Given the description of an element on the screen output the (x, y) to click on. 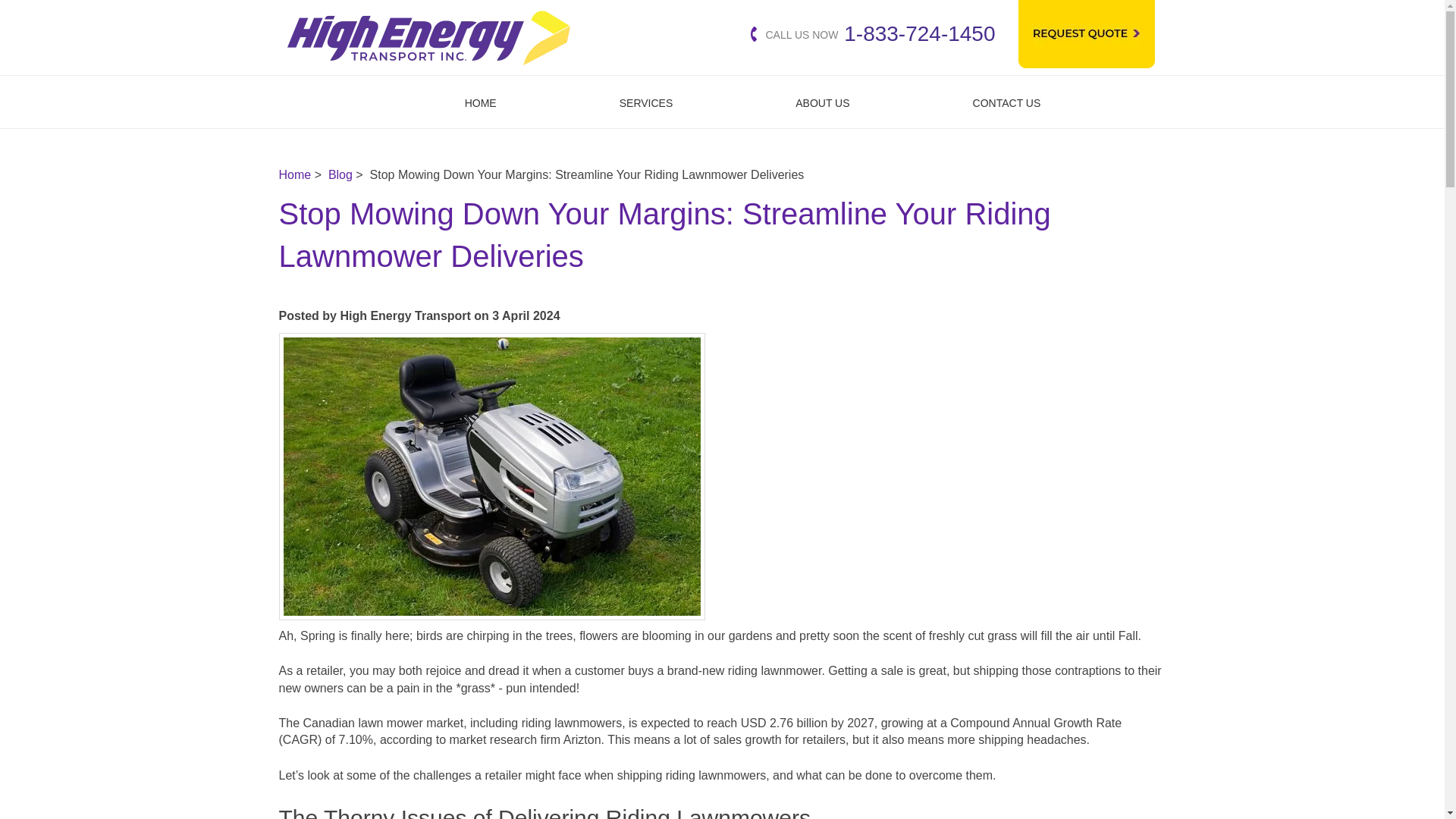
CONTACT US (1007, 102)
Call us now (873, 33)
SERVICES (646, 102)
Blog (340, 174)
Request Quote (1085, 33)
ABOUT US (822, 102)
CALL US NOW 1-833-724-1450 (873, 33)
Blog (340, 174)
Home (295, 174)
